Given the description of an element on the screen output the (x, y) to click on. 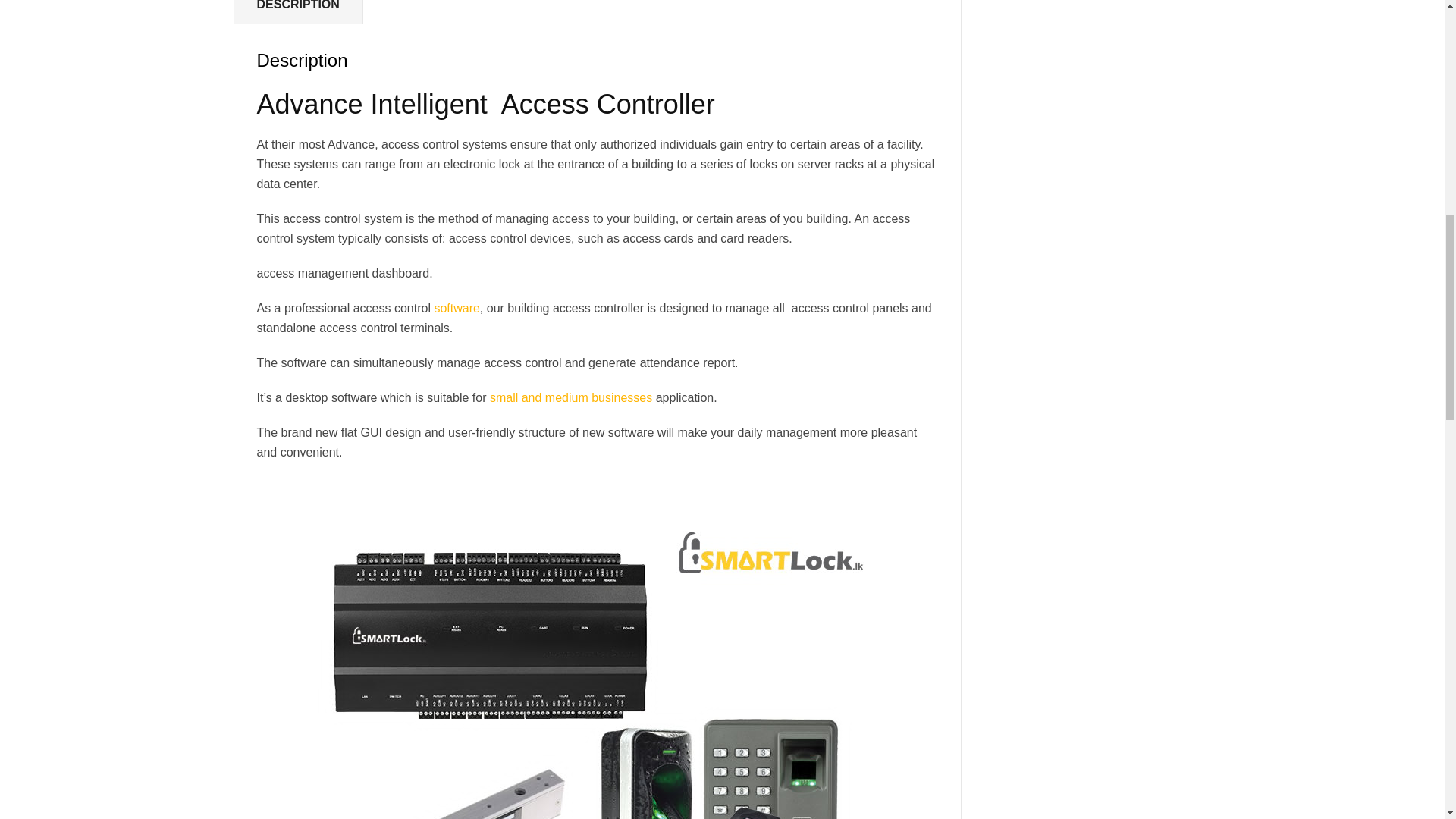
software (456, 308)
DESCRIPTION (296, 11)
small and medium businesses (570, 397)
